Given the description of an element on the screen output the (x, y) to click on. 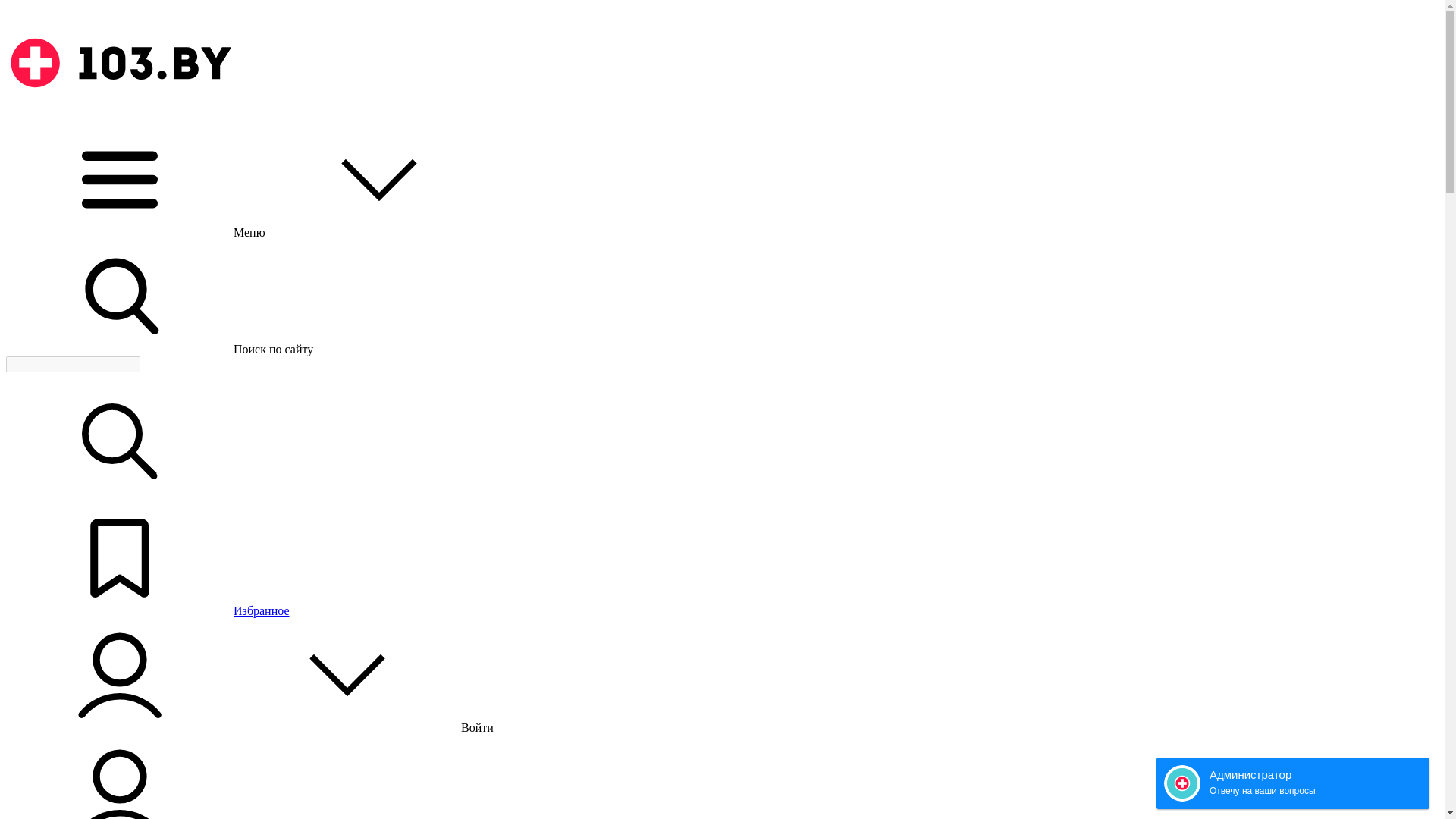
logo Element type: hover (119, 115)
logo Element type: hover (119, 62)
